Given the description of an element on the screen output the (x, y) to click on. 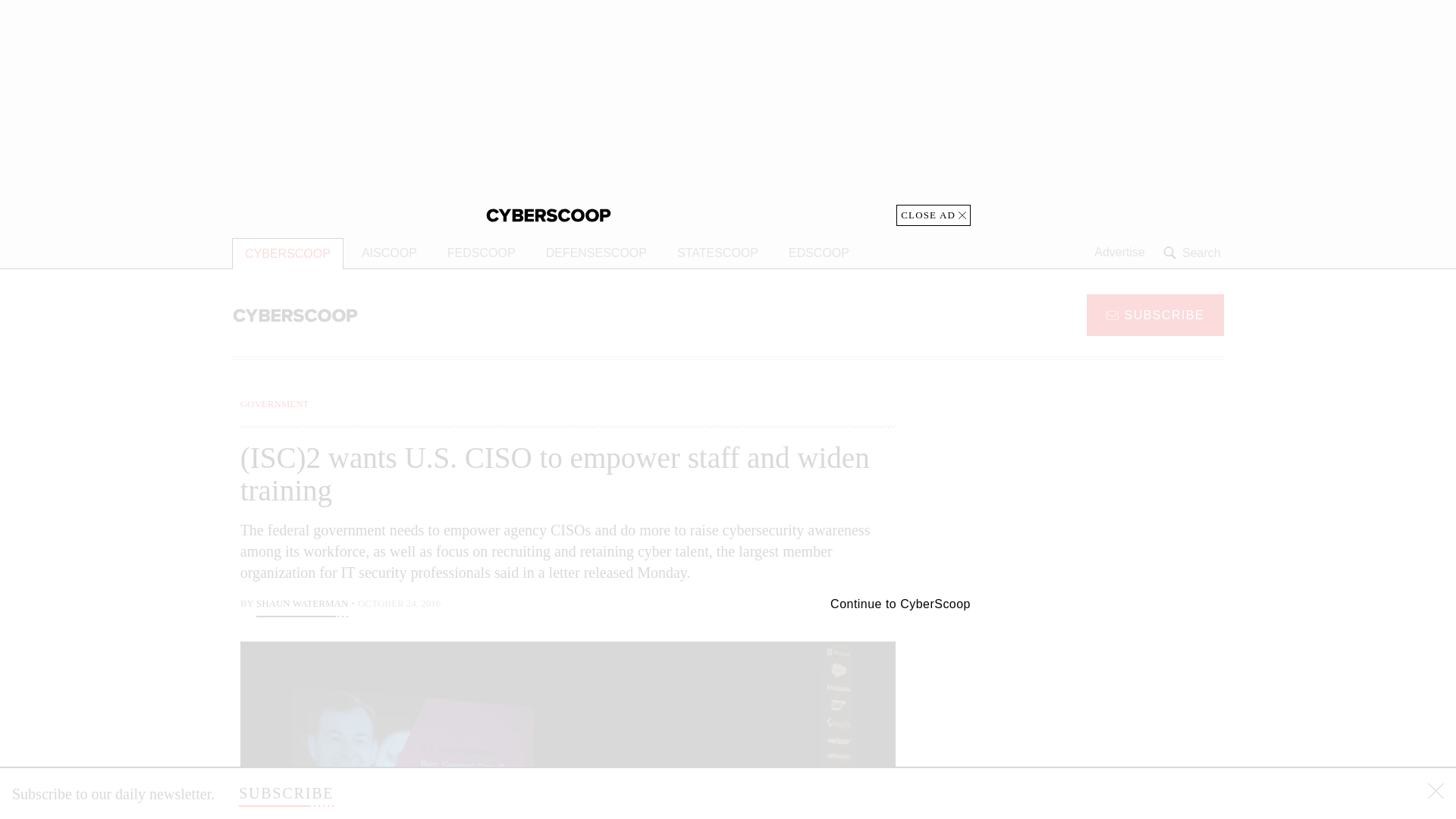
3rd party ad content (1101, 491)
EDSCOOP (818, 253)
AISCOOP (389, 253)
Shaun Waterman (301, 604)
3rd party ad content (1101, 705)
STATESCOOP (717, 253)
Advertise (1119, 252)
SUBSCRIBE (1155, 314)
FEDSCOOP (481, 253)
DEFENSESCOOP (596, 253)
Search (1193, 252)
CYBERSCOOP (287, 253)
